Given the description of an element on the screen output the (x, y) to click on. 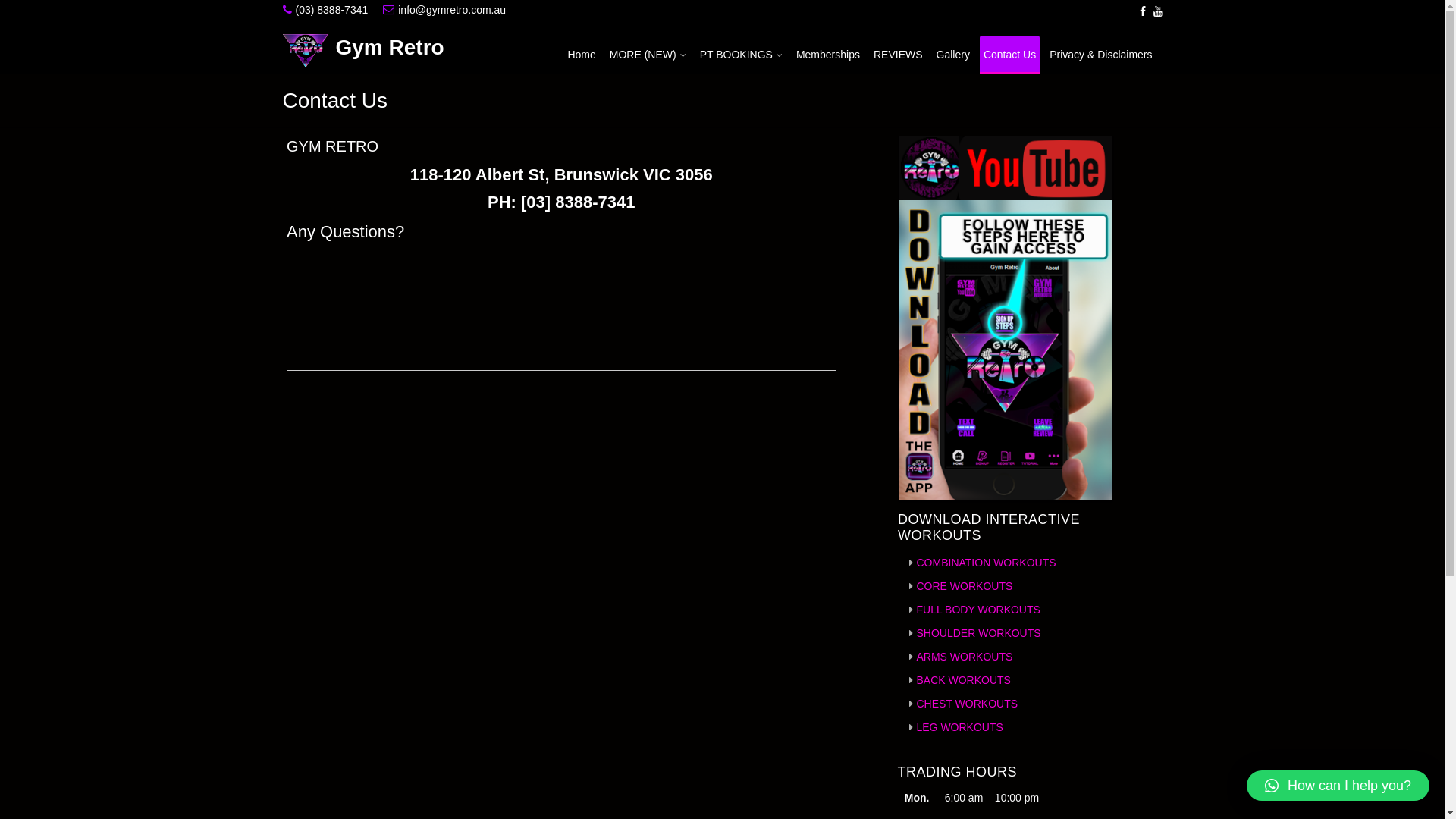
Home Element type: text (581, 54)
Follow us on Facebook Element type: hover (1142, 10)
Gym Retro Element type: text (389, 47)
info@gymretro.com.au Element type: text (451, 9)
COMBINATION WORKOUTS Element type: text (985, 562)
BACK WORKOUTS Element type: text (963, 680)
PT BOOKINGS Element type: text (741, 54)
Gallery Element type: text (952, 54)
Fittox Gymnasium Element type: hover (400, 304)
MORE (NEW) Element type: text (647, 54)
LEG WORKOUTS Element type: text (959, 727)
How can I help you? Element type: text (1337, 785)
Memberships Element type: text (827, 54)
FULL BODY WORKOUTS Element type: text (977, 609)
CHEST WORKOUTS Element type: text (966, 703)
Contact Us Element type: text (1009, 54)
Follow us on YouTube Element type: hover (1156, 10)
CORE WORKOUTS Element type: text (964, 586)
Privacy & Disclaimers Element type: text (1100, 54)
REVIEWS Element type: text (897, 54)
SHOULDER WORKOUTS Element type: text (978, 633)
ARMS WORKOUTS Element type: text (964, 656)
